Given the description of an element on the screen output the (x, y) to click on. 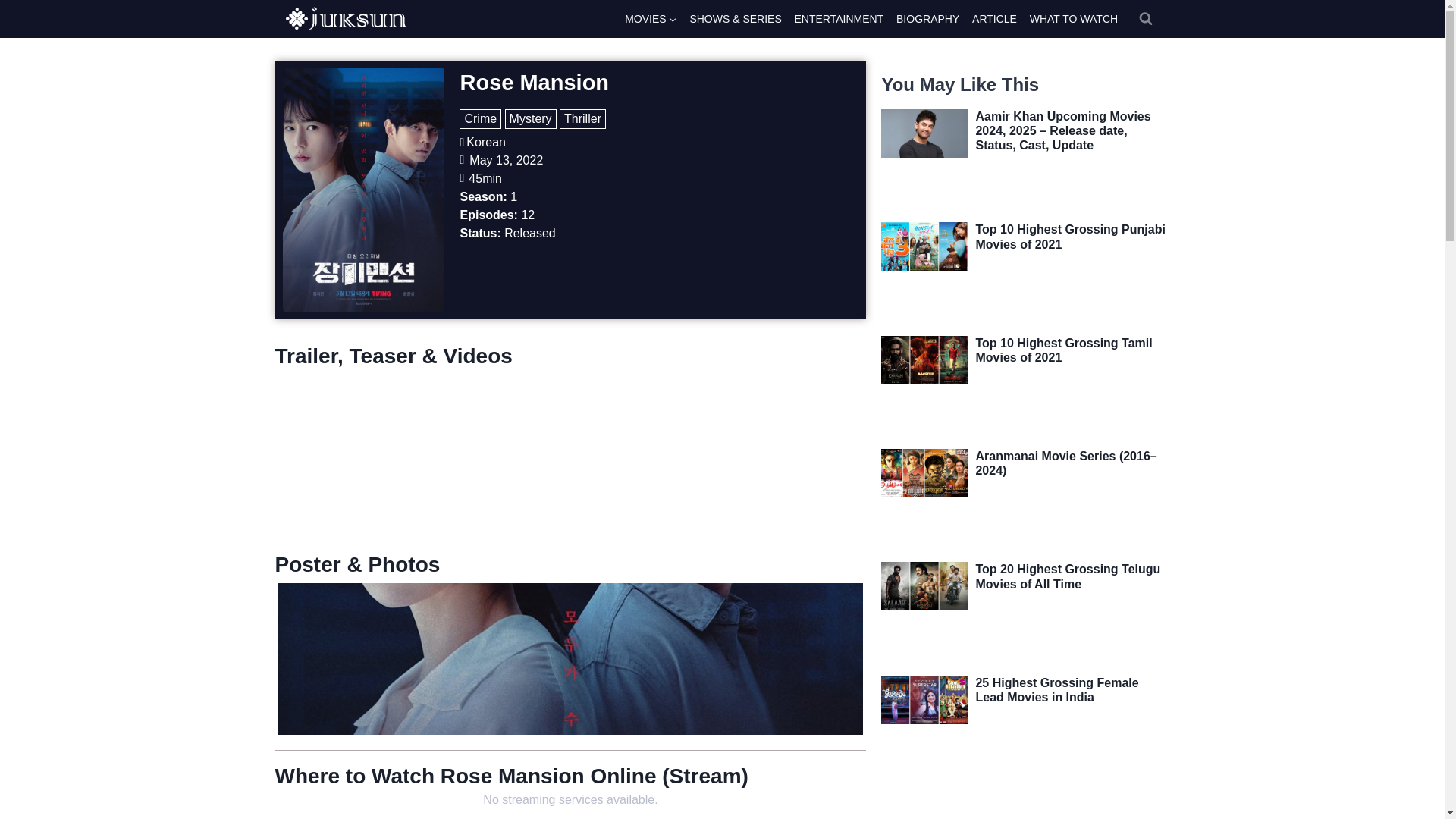
WHAT TO WATCH (1073, 18)
Top 10 Highest Grossing Punjabi Movies of 2021 (1069, 236)
Thriller (582, 118)
BIOGRAPHY (927, 18)
ARTICLE (994, 18)
Crime (480, 118)
MOVIES (650, 18)
Korean (485, 142)
ENTERTAINMENT (838, 18)
Mystery (530, 118)
